Given the description of an element on the screen output the (x, y) to click on. 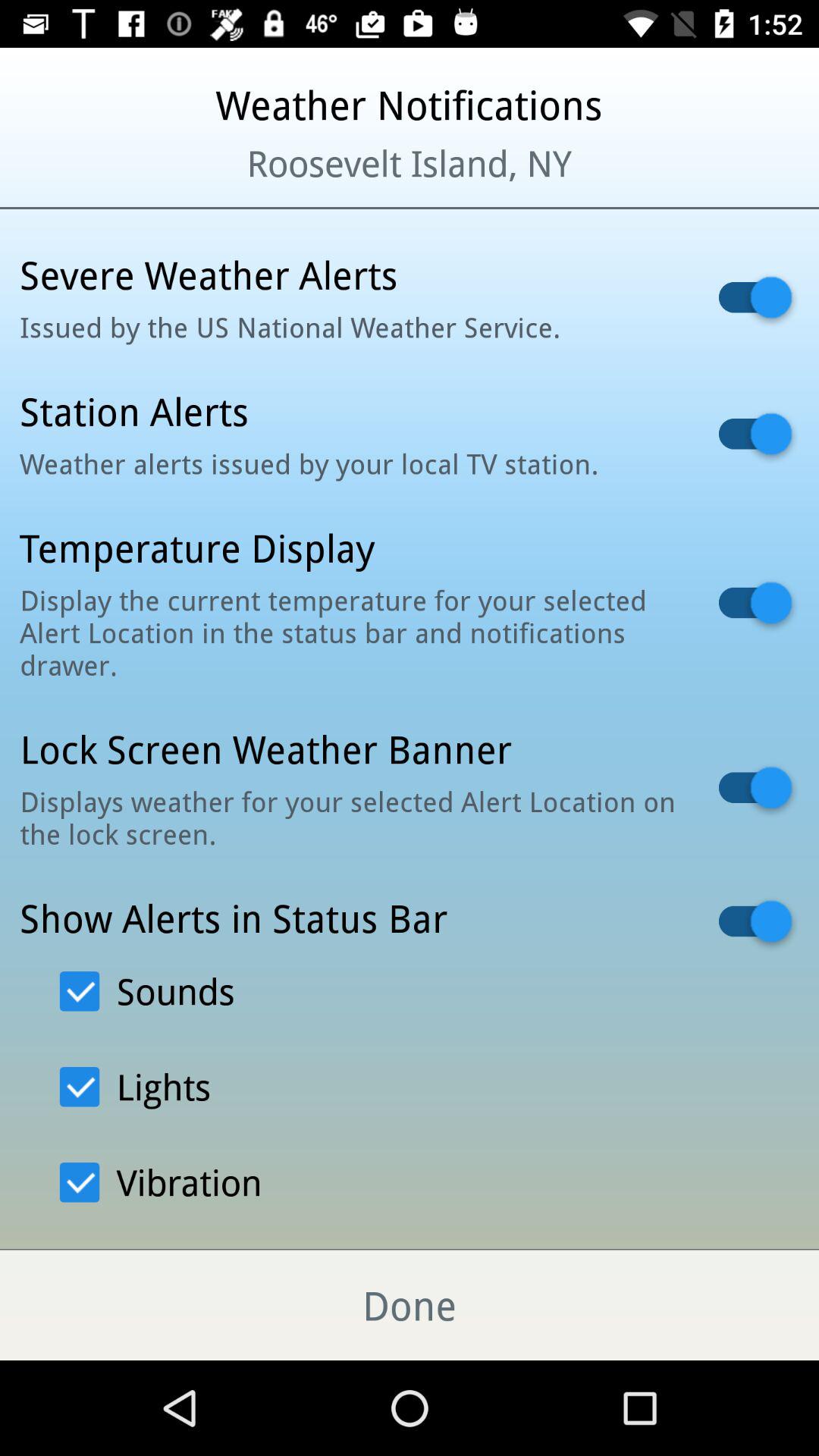
click on vibration (160, 1182)
select the text box which says light (79, 1086)
